Given the description of an element on the screen output the (x, y) to click on. 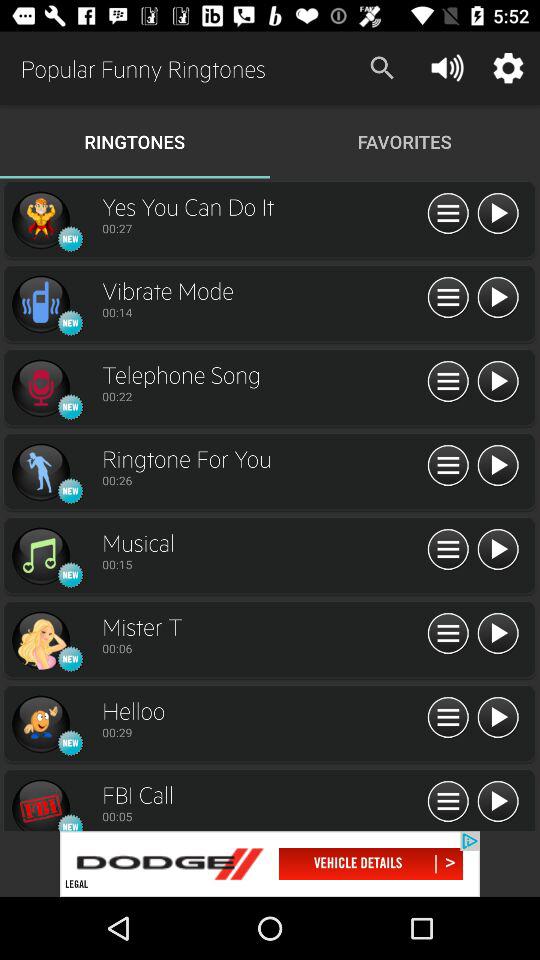
start button (497, 549)
